Given the description of an element on the screen output the (x, y) to click on. 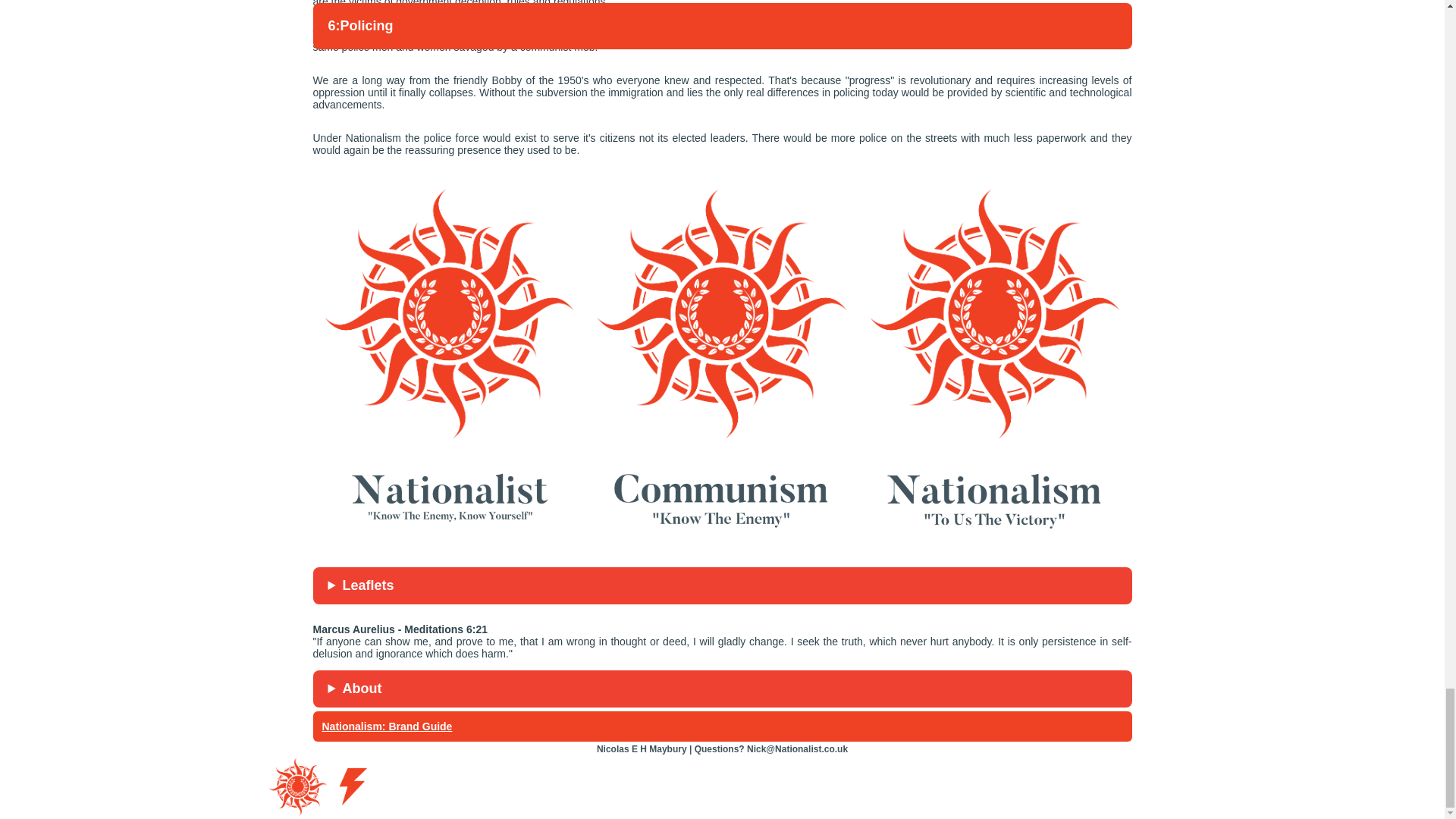
Link to Nationalist.co.uk (449, 492)
Nationalism: Brand Guide (387, 726)
Link to Nationalist.co.uk (449, 313)
Link to Communism.co.uk (721, 492)
Link to Communism.co.uk (721, 313)
